Given the description of an element on the screen output the (x, y) to click on. 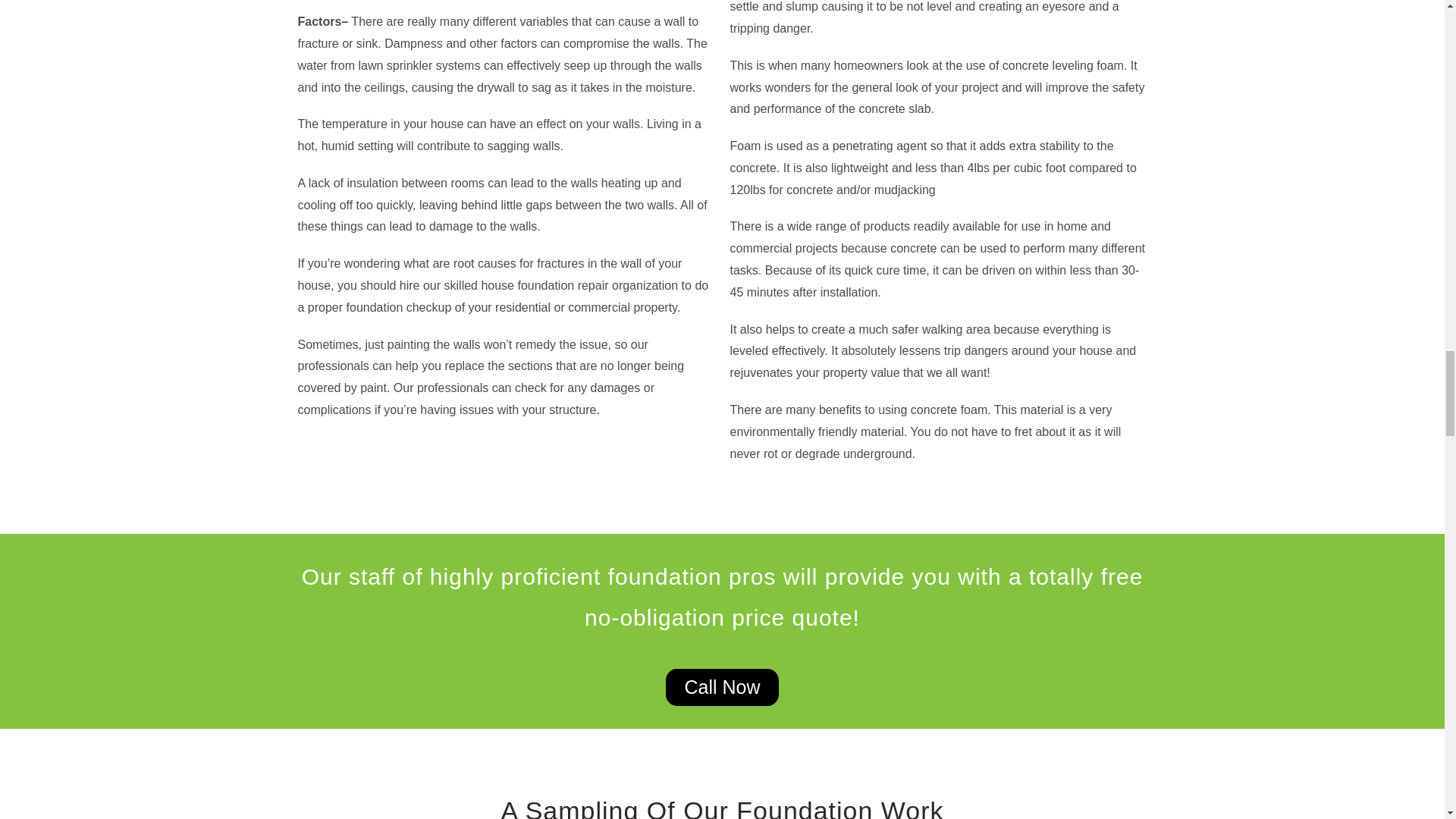
Call Now (721, 687)
